Given the description of an element on the screen output the (x, y) to click on. 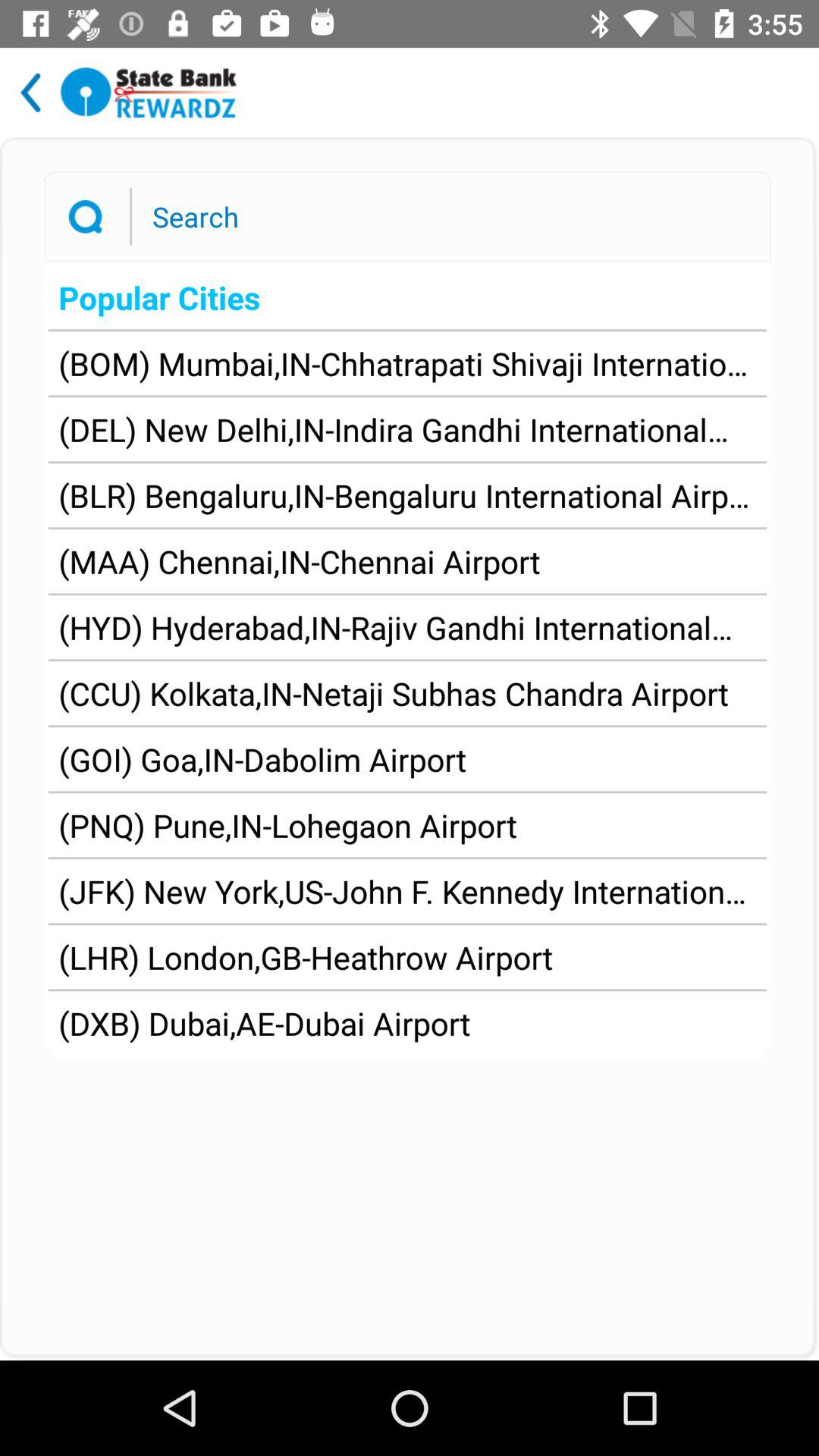
choose icon above blr bengaluru in (407, 429)
